Given the description of an element on the screen output the (x, y) to click on. 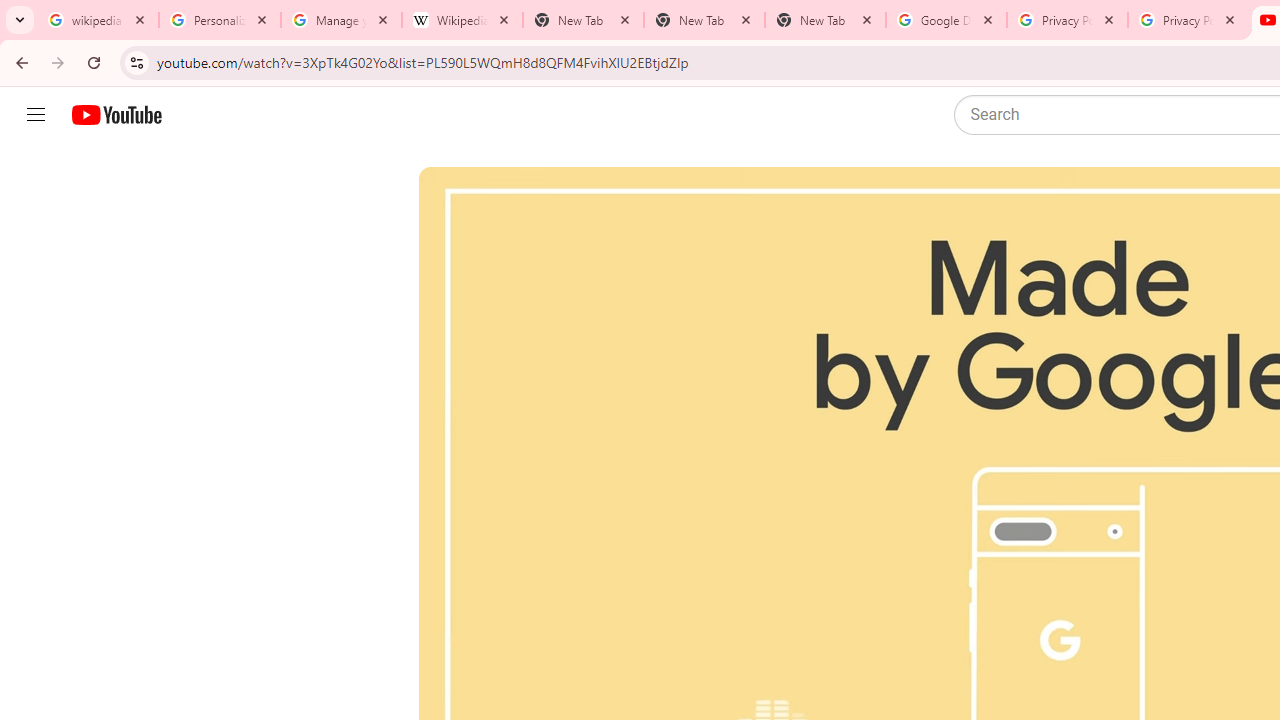
Guide (35, 115)
YouTube Home (116, 115)
Manage your Location History - Google Search Help (340, 20)
Personalization & Google Search results - Google Search Help (219, 20)
New Tab (825, 20)
New Tab (704, 20)
Google Drive: Sign-in (946, 20)
